Given the description of an element on the screen output the (x, y) to click on. 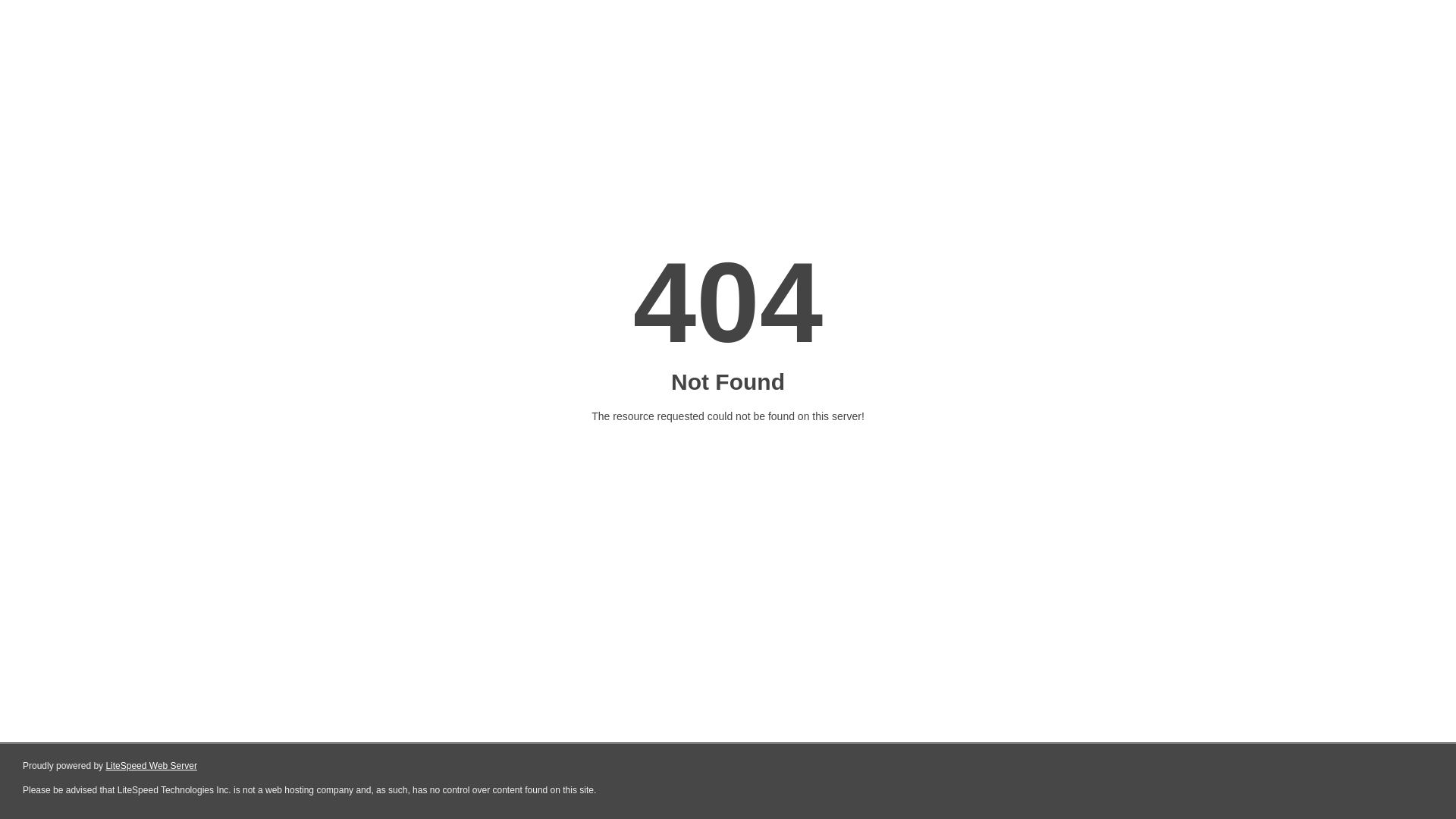
LiteSpeed Web Server Element type: text (151, 765)
